Given the description of an element on the screen output the (x, y) to click on. 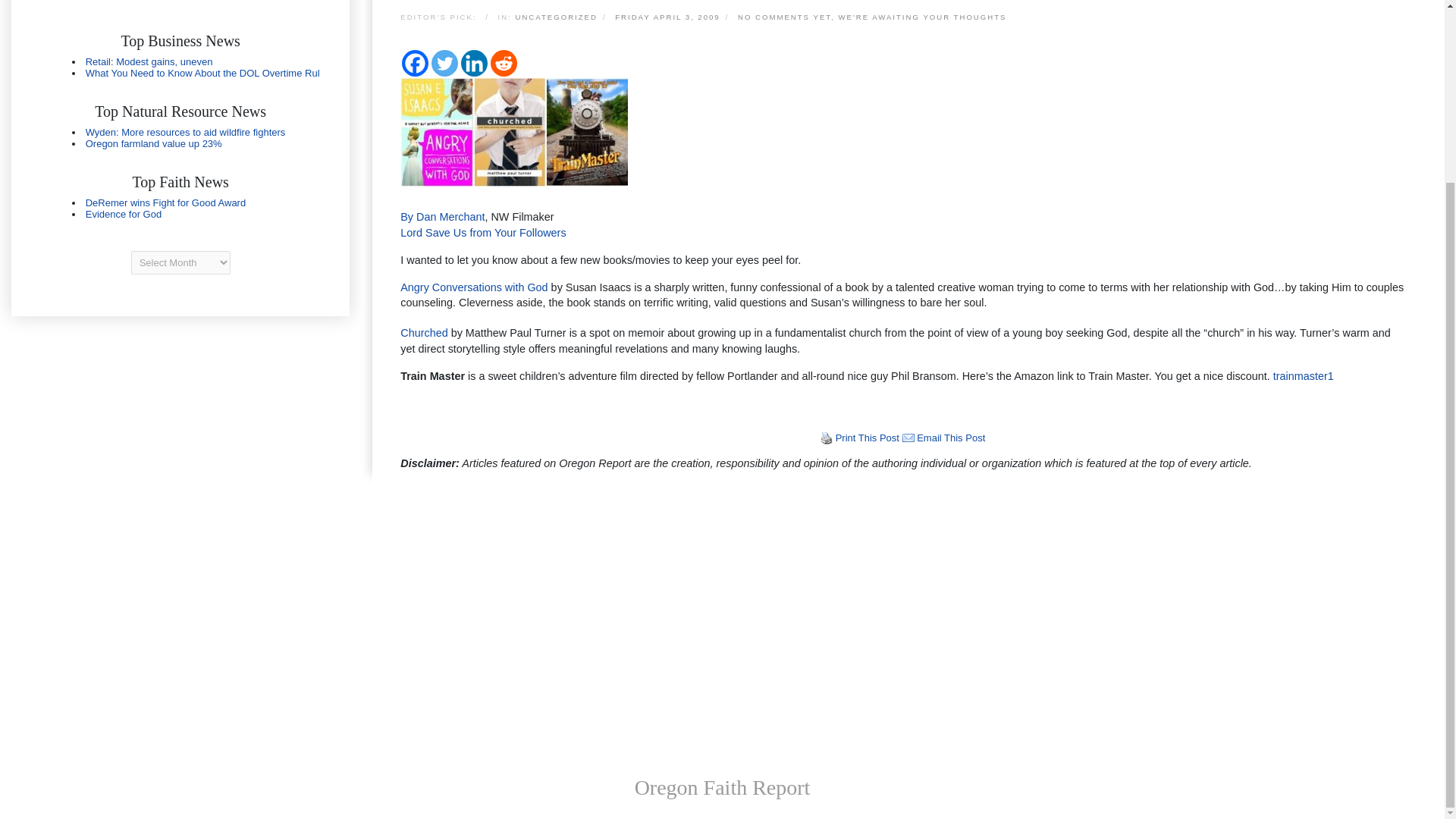
Twitter (444, 62)
By Dan Merchant (442, 216)
Retail: Modest gains, uneven (148, 61)
Wyden: More resources to aid wildfire fighters (185, 132)
Evidence for God (123, 214)
Oregon Faith Report (722, 787)
What You Need to Know About the DOL Overtime Rul (202, 72)
Linkedin (474, 62)
trainmaster1 (1301, 376)
NO COMMENTS YET, WE'RE AWAITING YOUR THOUGHTS (874, 18)
